Given the description of an element on the screen output the (x, y) to click on. 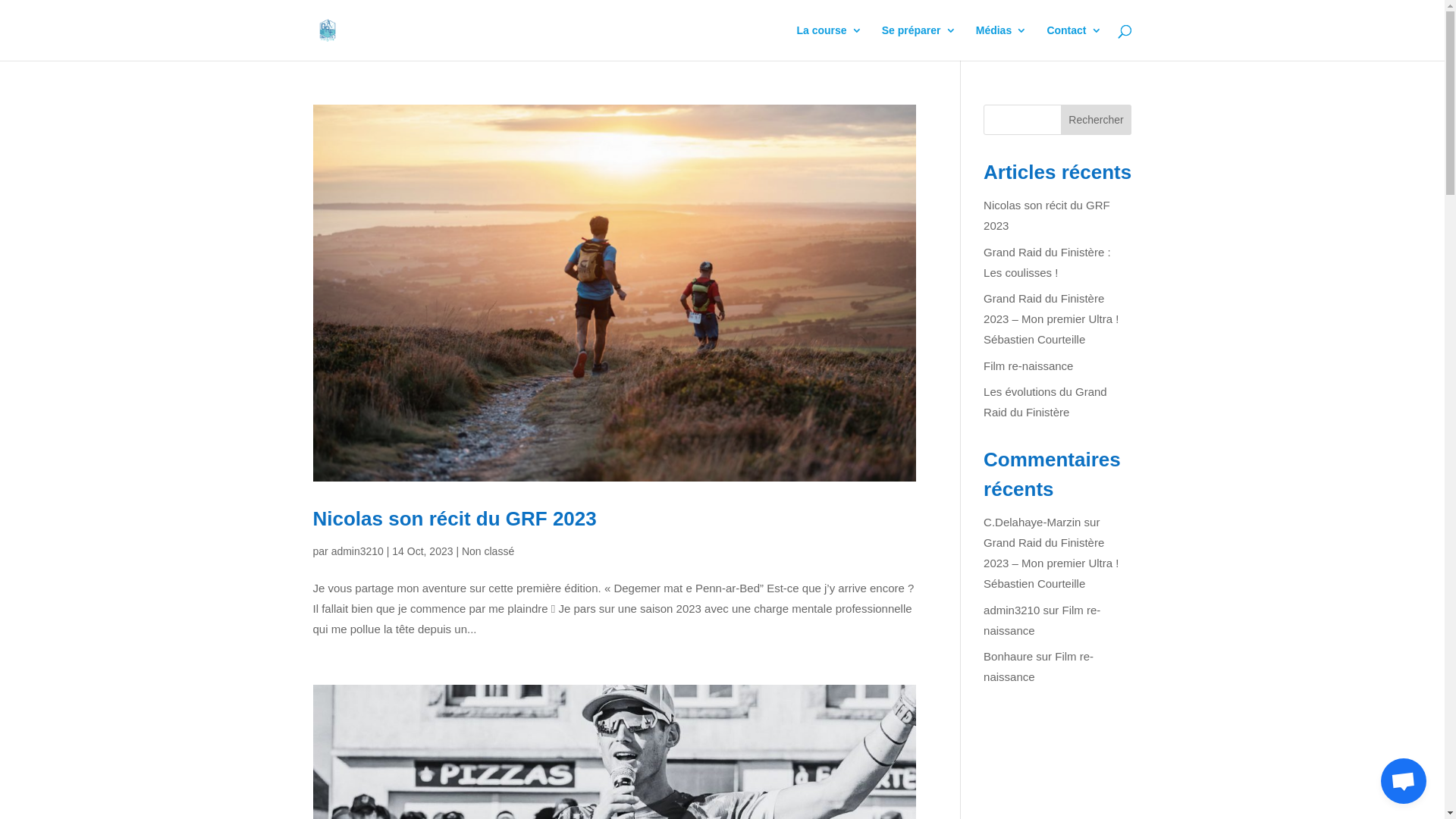
Film re-naissance Element type: text (1028, 365)
admin3210 Element type: text (1011, 609)
Contact Element type: text (1073, 42)
Film re-naissance Element type: text (1038, 666)
Rechercher Element type: text (1096, 119)
admin3210 Element type: text (357, 551)
Film re-naissance Element type: text (1041, 620)
La course Element type: text (828, 42)
